Given the description of an element on the screen output the (x, y) to click on. 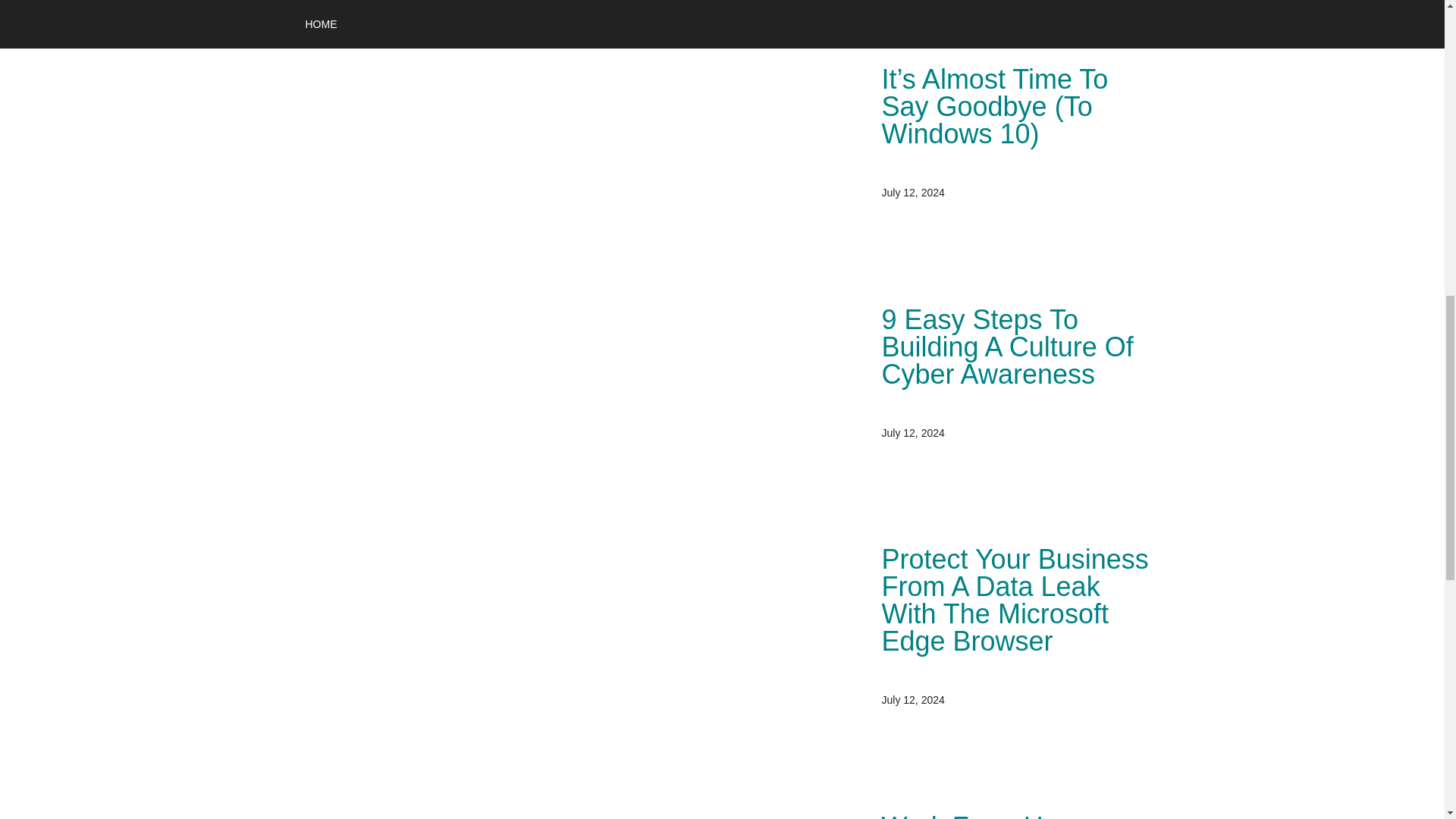
Storm Worm Botnet (593, 9)
Malware (472, 9)
Viruses (663, 9)
Viruses (367, 9)
9 Easy Steps To Building A Culture Of Cyber Awareness (1006, 346)
Spyware (519, 9)
